Given the description of an element on the screen output the (x, y) to click on. 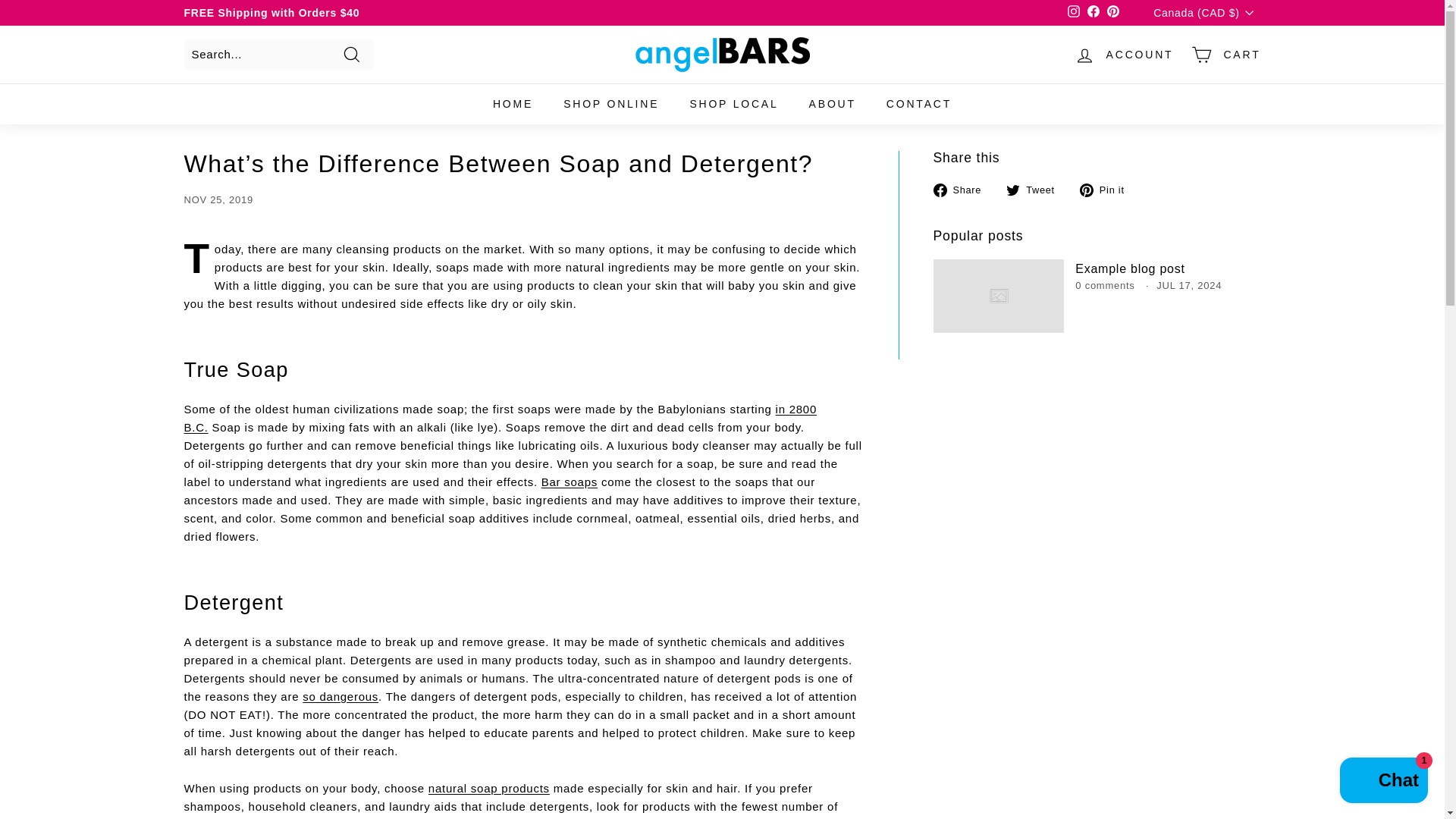
Share on Facebook (962, 189)
Shopify online store chat (1383, 781)
Pin on Pinterest (1107, 189)
Tweet on Twitter (1035, 189)
